Given the description of an element on the screen output the (x, y) to click on. 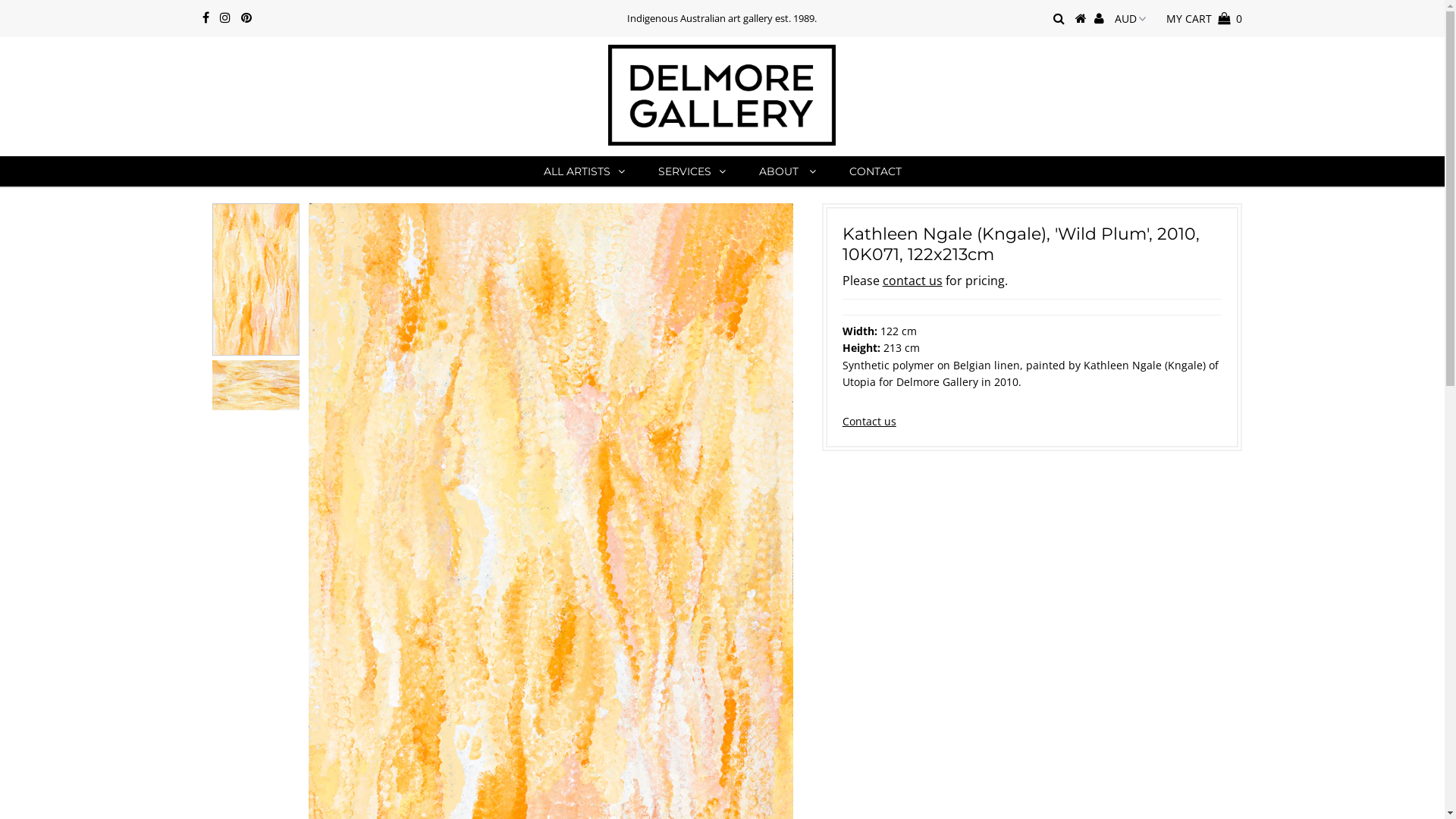
contact us Element type: text (912, 280)
MY CART    0 Element type: text (1204, 18)
ALL ARTISTS Element type: text (583, 171)
ABOUT Element type: text (786, 171)
Contact us Element type: text (869, 421)
SERVICES Element type: text (691, 171)
CONTACT Element type: text (875, 171)
